Given the description of an element on the screen output the (x, y) to click on. 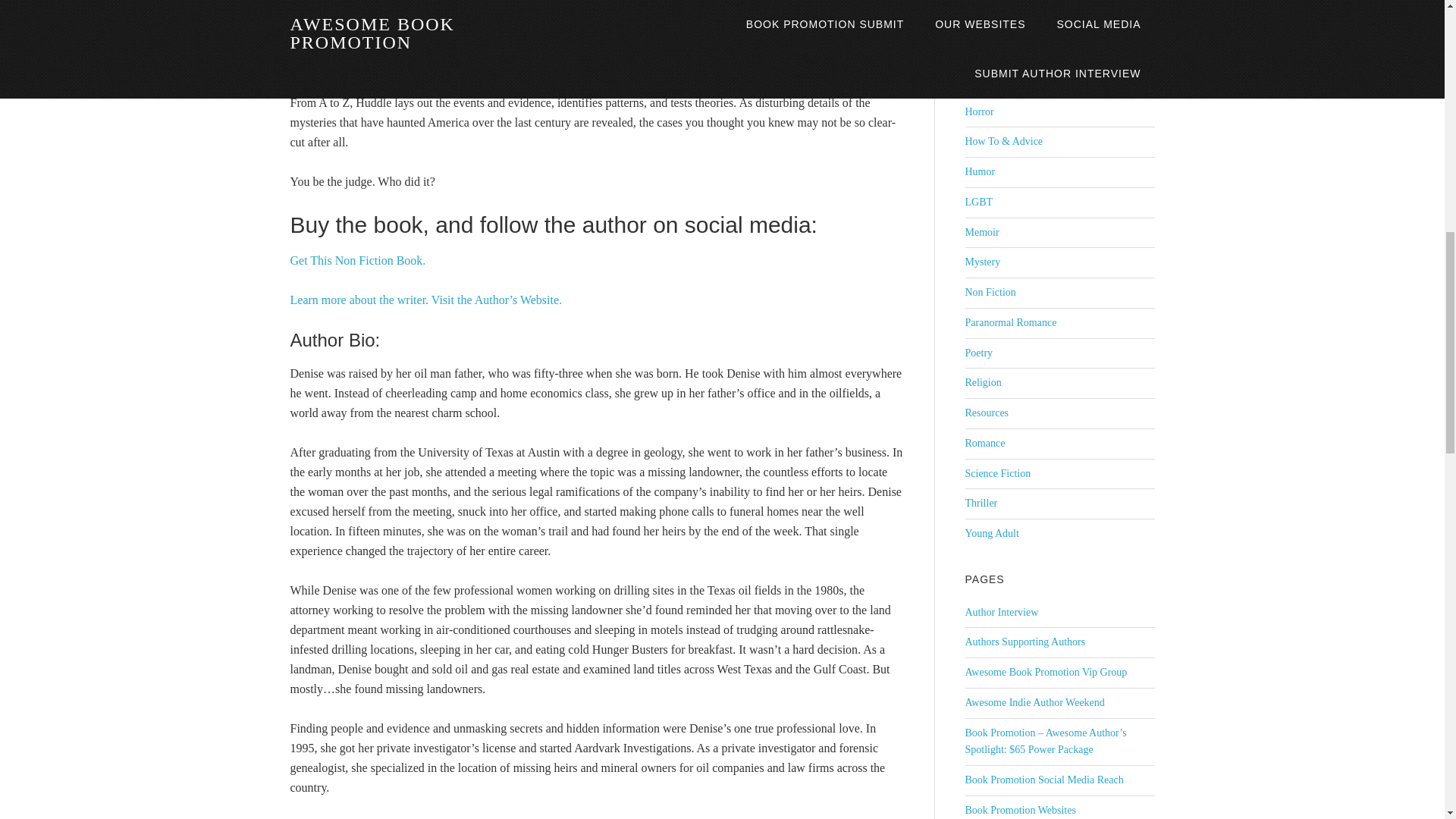
Fiction (978, 50)
LGBT (977, 202)
Humor (978, 171)
Get This Non Fiction Book. (357, 259)
Horror (977, 111)
Featured Books (996, 20)
